Given the description of an element on the screen output the (x, y) to click on. 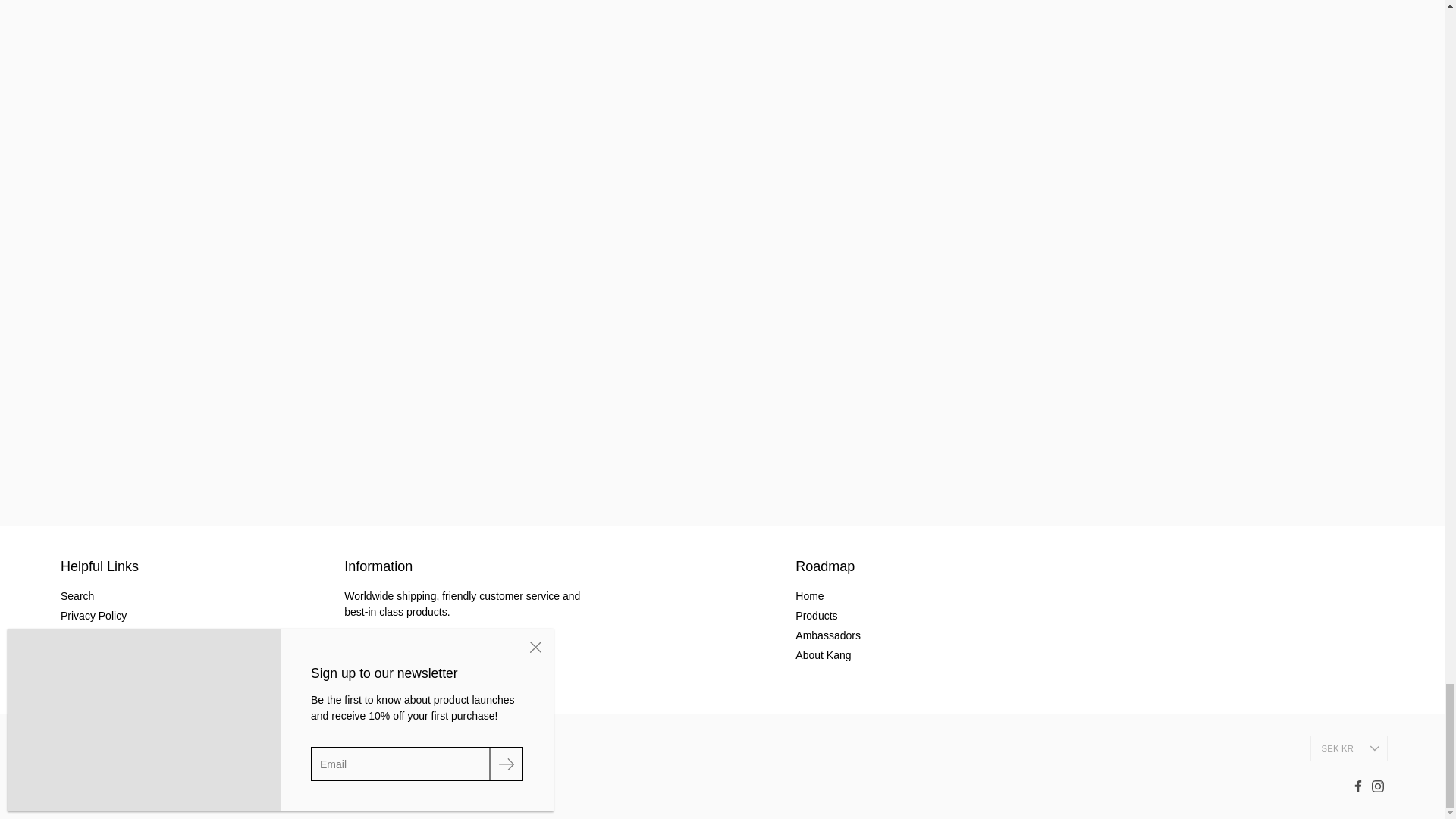
Maestro (201, 748)
Klarna (169, 748)
Apple Pay (106, 748)
Visa (266, 748)
Google Pay (137, 748)
American Express (74, 748)
Mastercard (233, 748)
